Given the description of an element on the screen output the (x, y) to click on. 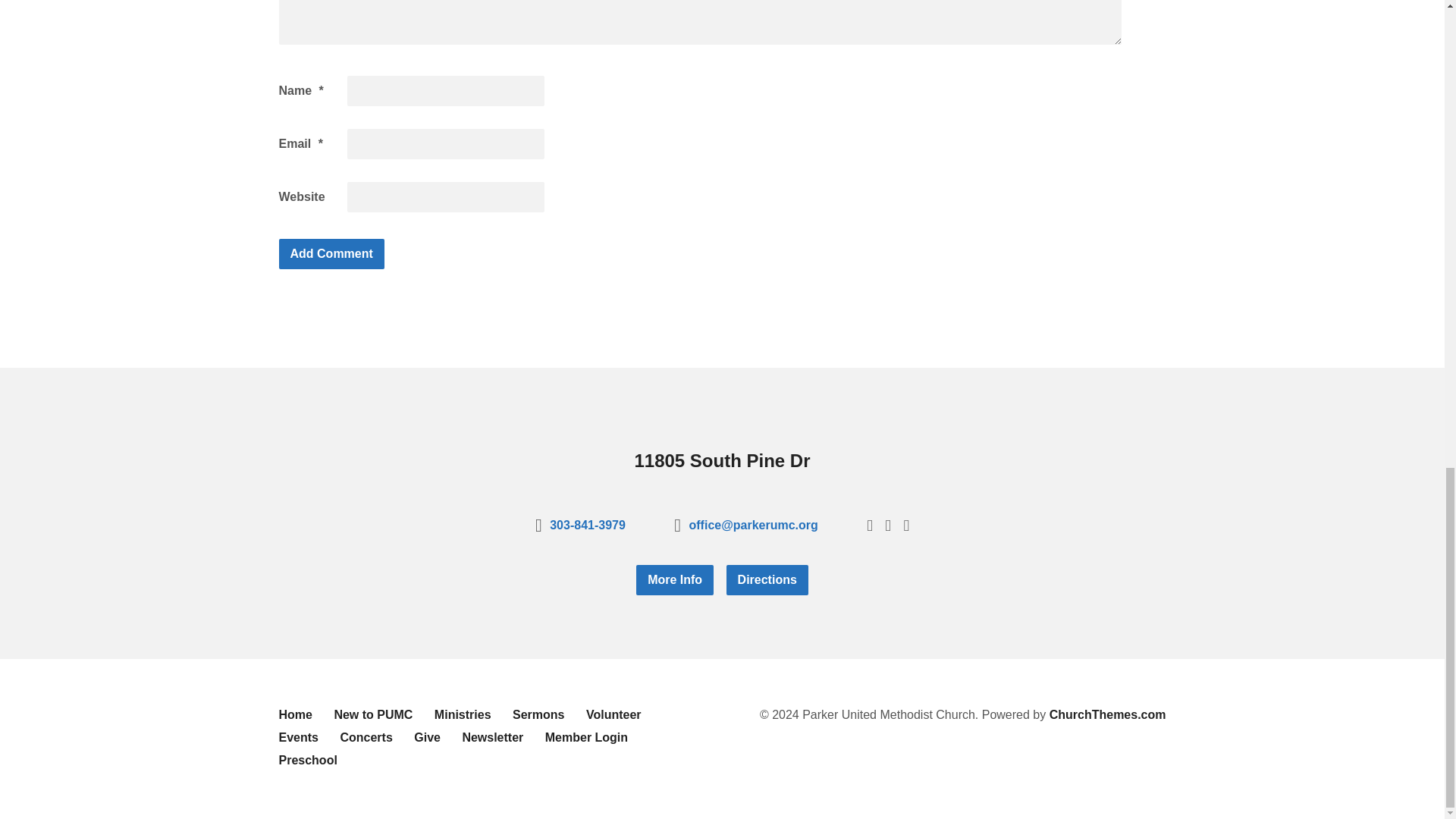
Add Comment (331, 254)
YouTube (888, 524)
Instagram (905, 524)
Facebook (869, 524)
